Given the description of an element on the screen output the (x, y) to click on. 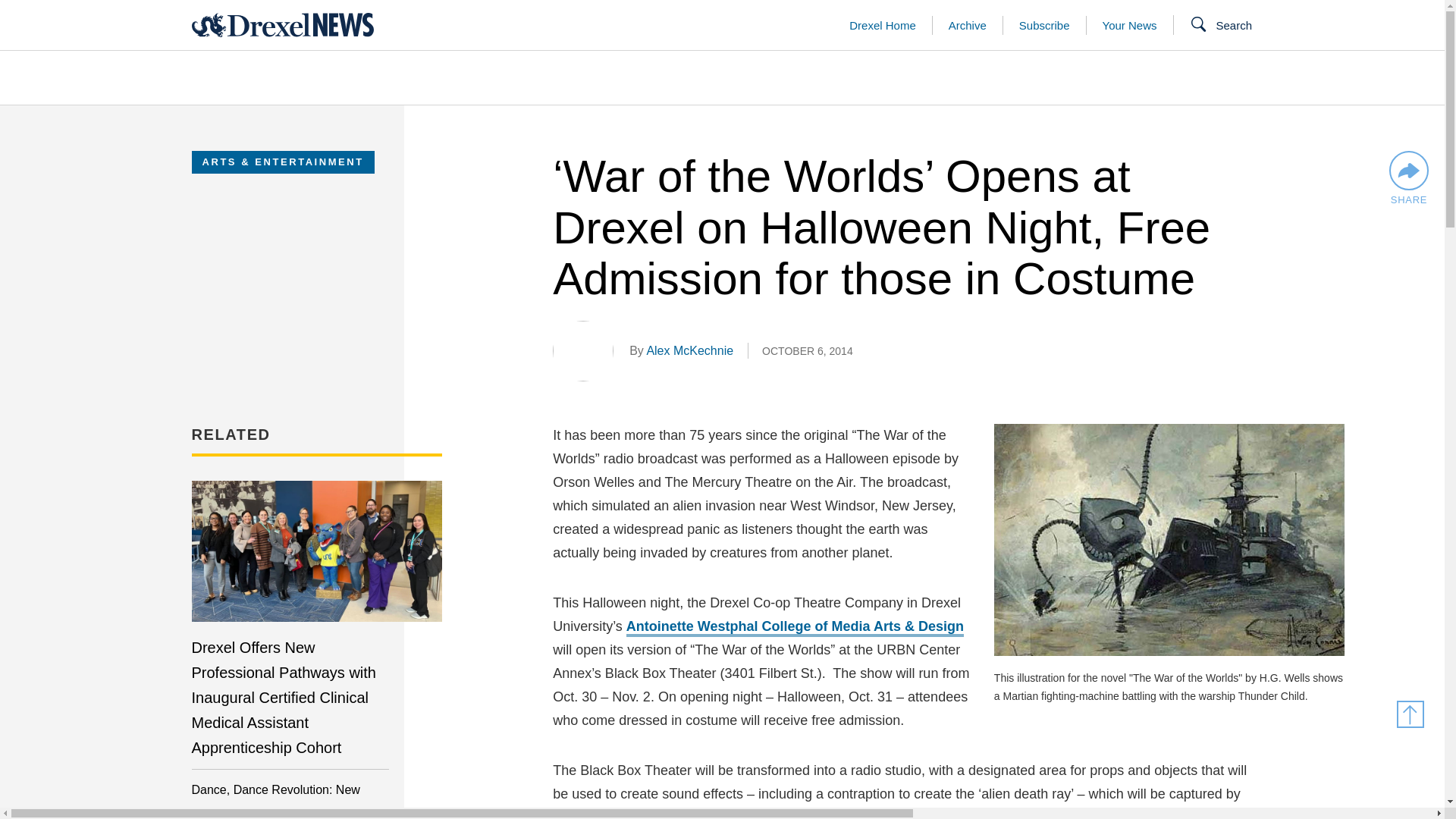
Subscribe (1044, 24)
Archive (968, 24)
Your News (1129, 24)
HEALTH (944, 77)
Search (1220, 25)
Drexel Home (881, 24)
SPORTS (1435, 77)
